Given the description of an element on the screen output the (x, y) to click on. 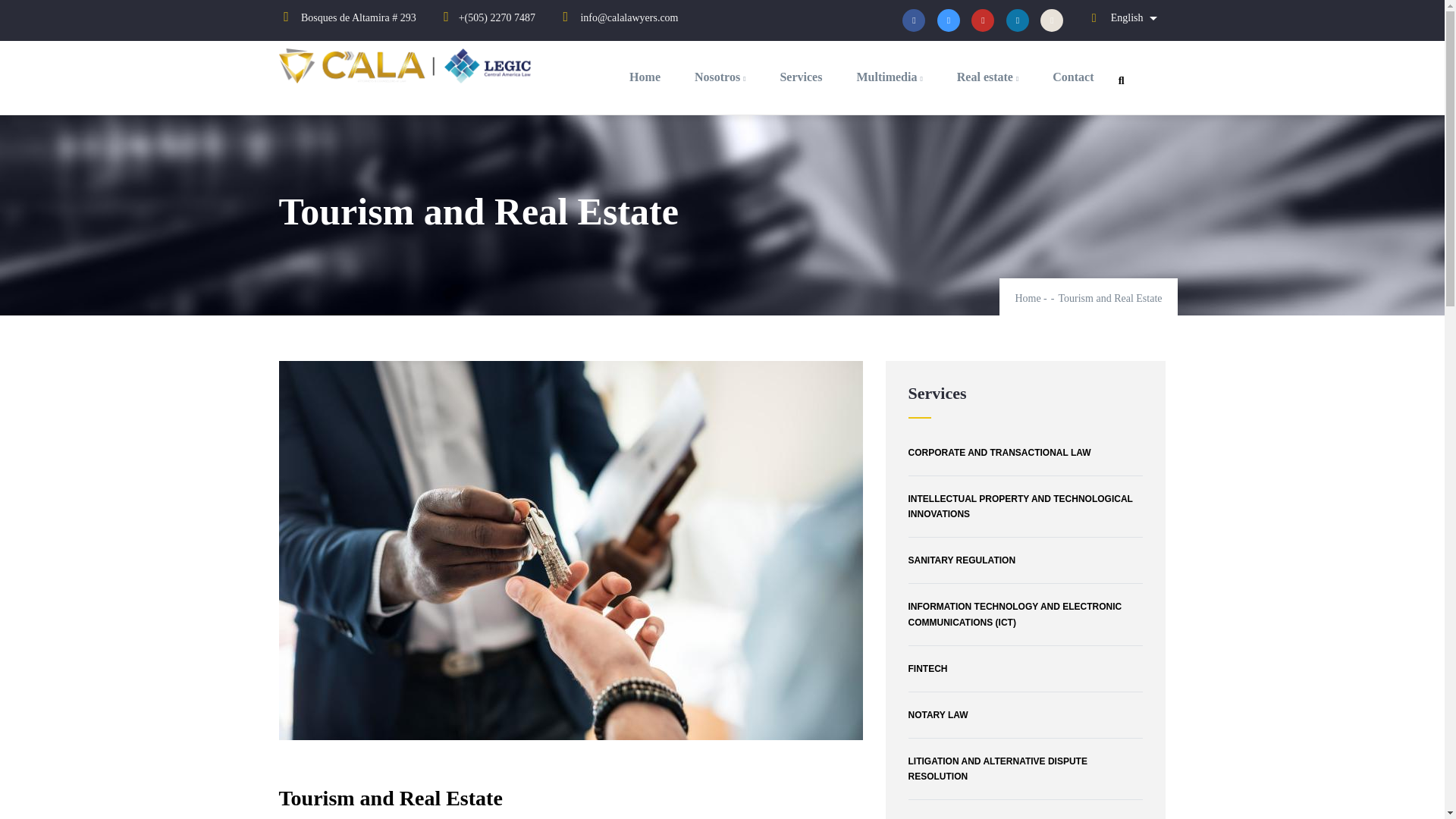
SANITARY REGULATION (1025, 559)
Multimedia (889, 77)
NOTARY LAW (1025, 714)
Home (409, 67)
INTELLECTUAL PROPERTY AND TECHNOLOGICAL INNOVATIONS (1025, 506)
Contact (1072, 77)
Nosotros (719, 77)
COMPLIANCE, ANTI-MONEY LAUNDERING AND ANTI-CORRUPTION (1025, 815)
Real estate (987, 77)
Home (1027, 297)
CORPORATE AND TRANSACTIONAL LAW (1025, 452)
LITIGATION AND ALTERNATIVE DISPUTE RESOLUTION (1025, 768)
FINTECH (1025, 668)
Services (800, 77)
